Given the description of an element on the screen output the (x, y) to click on. 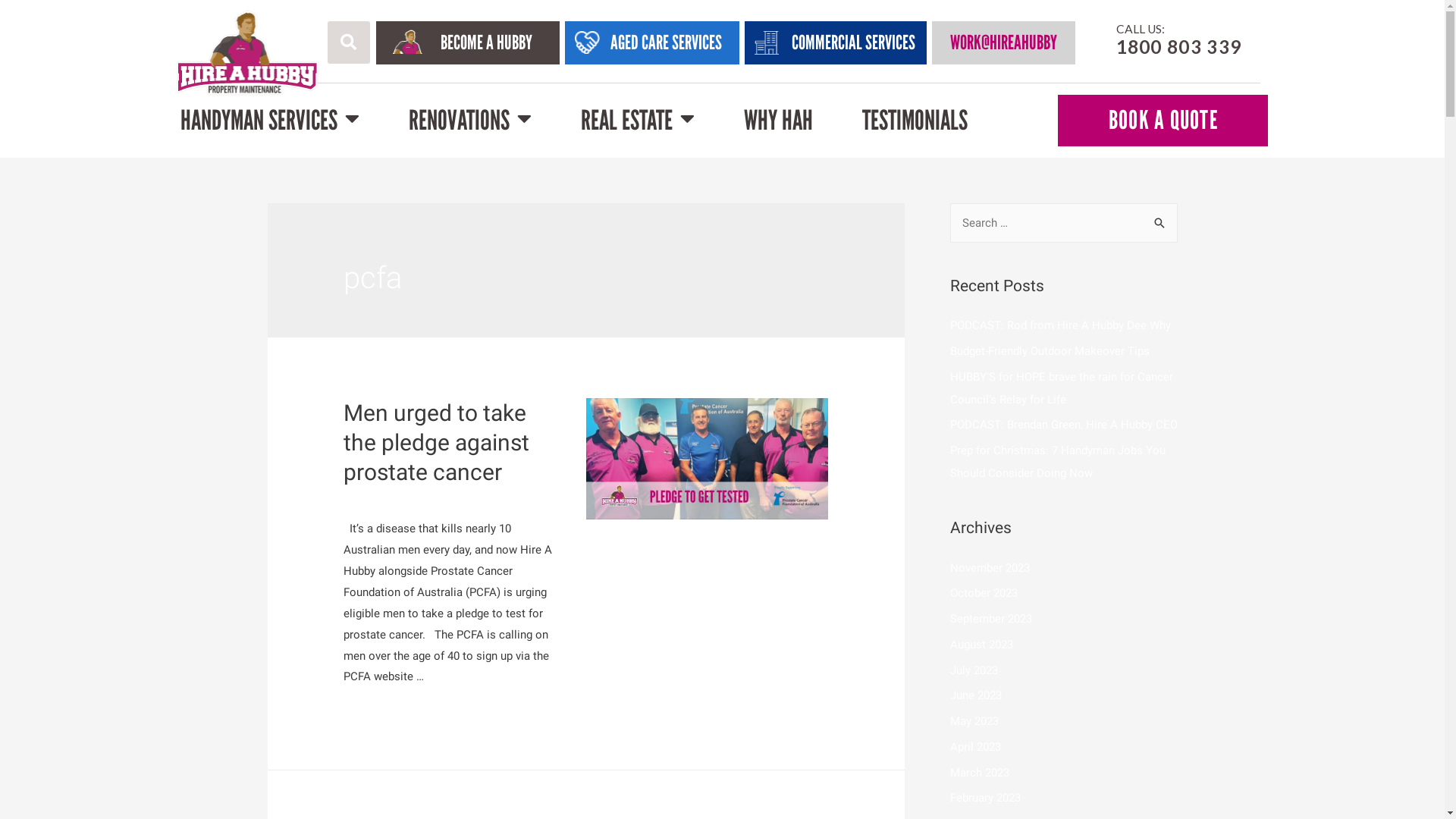
RENOVATIONS Element type: text (468, 120)
WORK@HIREAHUBBY Element type: text (1003, 42)
November 2023 Element type: text (989, 567)
PCFA Element type: text (390, 498)
News Element type: text (357, 498)
BOOK A QUOTE Element type: text (1162, 119)
WHY HAH Element type: text (777, 120)
May 2023 Element type: text (973, 721)
February 2023 Element type: text (984, 797)
September 2023 Element type: text (990, 618)
COMMERCIAL SERVICES Element type: text (853, 42)
TESTIMONIALS Element type: text (913, 120)
Budget-Friendly Outdoor Makeover Tips Element type: text (1048, 350)
October 2023 Element type: text (982, 592)
July 2023 Element type: text (973, 670)
Group 13 Element type: hover (407, 40)
Group 10 Element type: hover (766, 42)
AGED CARE SERVICES Element type: text (665, 42)
PODCAST: Rod from Hire A Hubby Dee Why Element type: text (1059, 325)
Men urged to take the pledge against prostate cancer Element type: text (436, 442)
BECOME A HUBBY Element type: text (486, 42)
March 2023 Element type: text (978, 772)
PODCAST: Brendan Green, Hire A Hubby CEO Element type: text (1062, 424)
Janet Rowlands Element type: text (470, 498)
Path 1573 Element type: hover (586, 42)
August 2023 Element type: text (980, 644)
April 2023 Element type: text (974, 746)
Search Element type: text (1160, 218)
HANDYMAN SERVICES Element type: text (269, 120)
June 2023 Element type: text (975, 695)
REAL ESTATE Element type: text (637, 120)
